Given the description of an element on the screen output the (x, y) to click on. 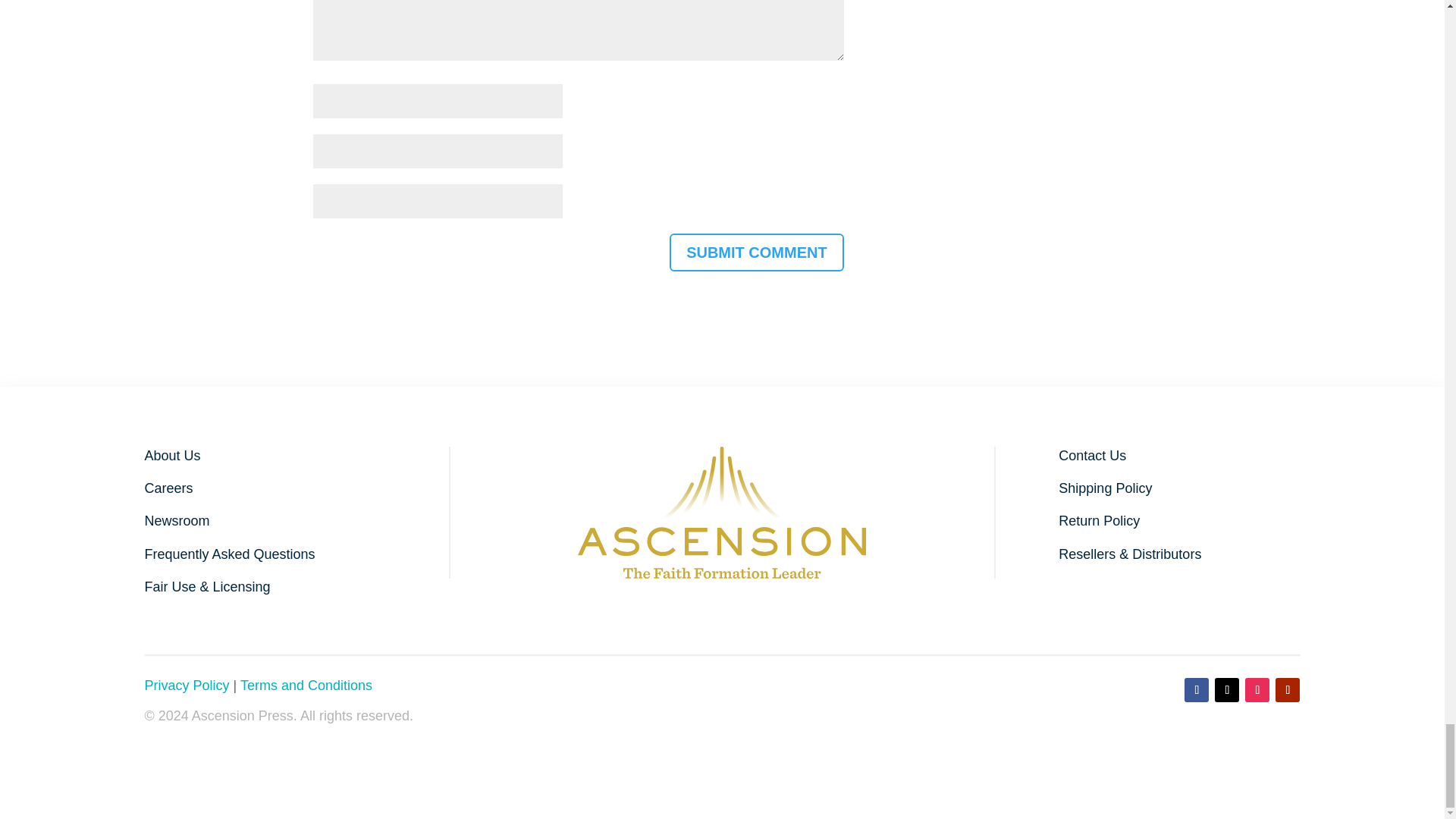
logo-facebook (722, 512)
Follow on X (1226, 689)
Follow on Instagram (1256, 689)
Follow on Youtube (1287, 689)
Follow on Facebook (1196, 689)
